Given the description of an element on the screen output the (x, y) to click on. 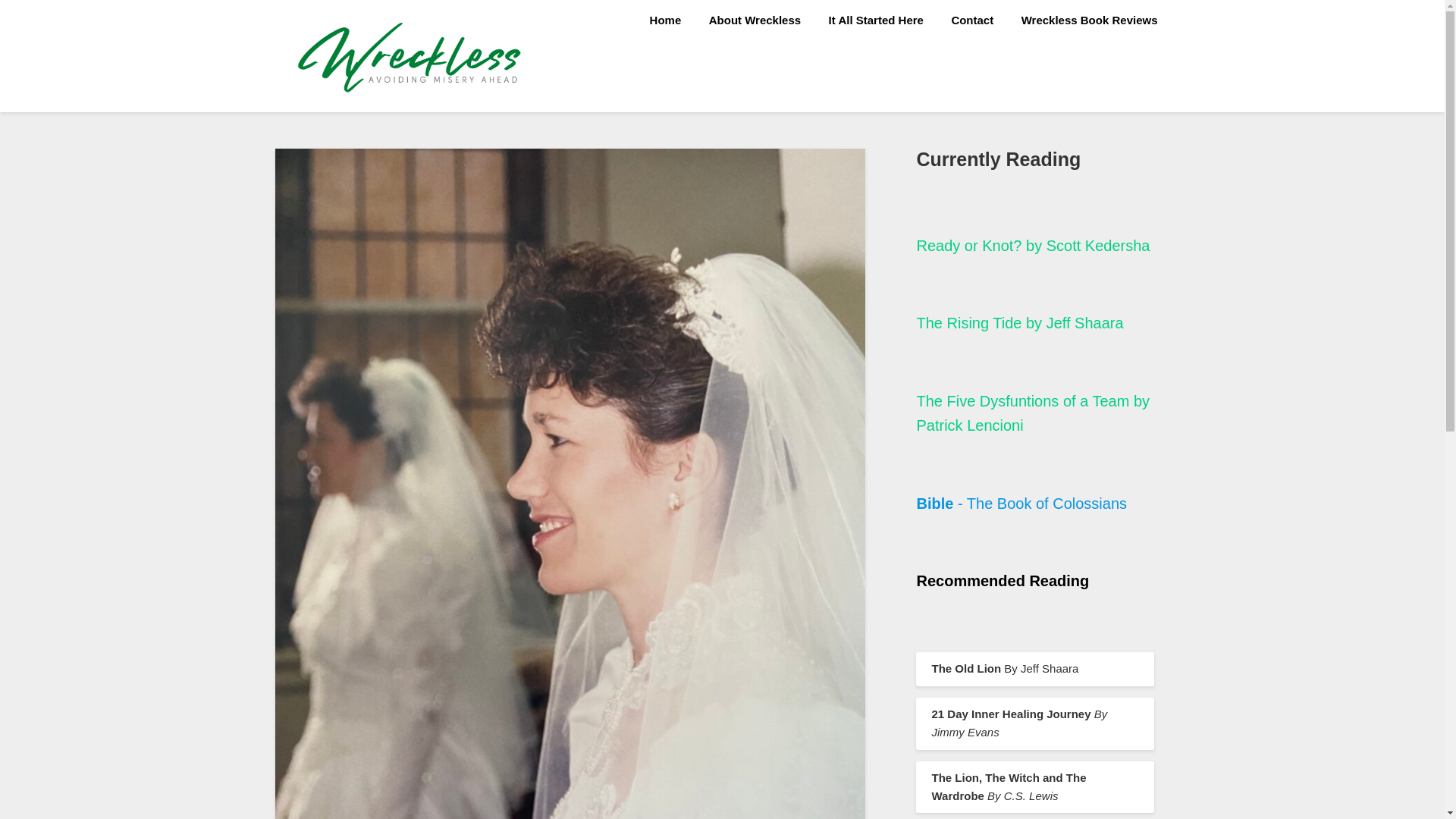
It All Started Here (876, 20)
Home (665, 20)
Wreckless Book Reviews (1089, 20)
About Wreckless (754, 20)
Contact (972, 20)
